Given the description of an element on the screen output the (x, y) to click on. 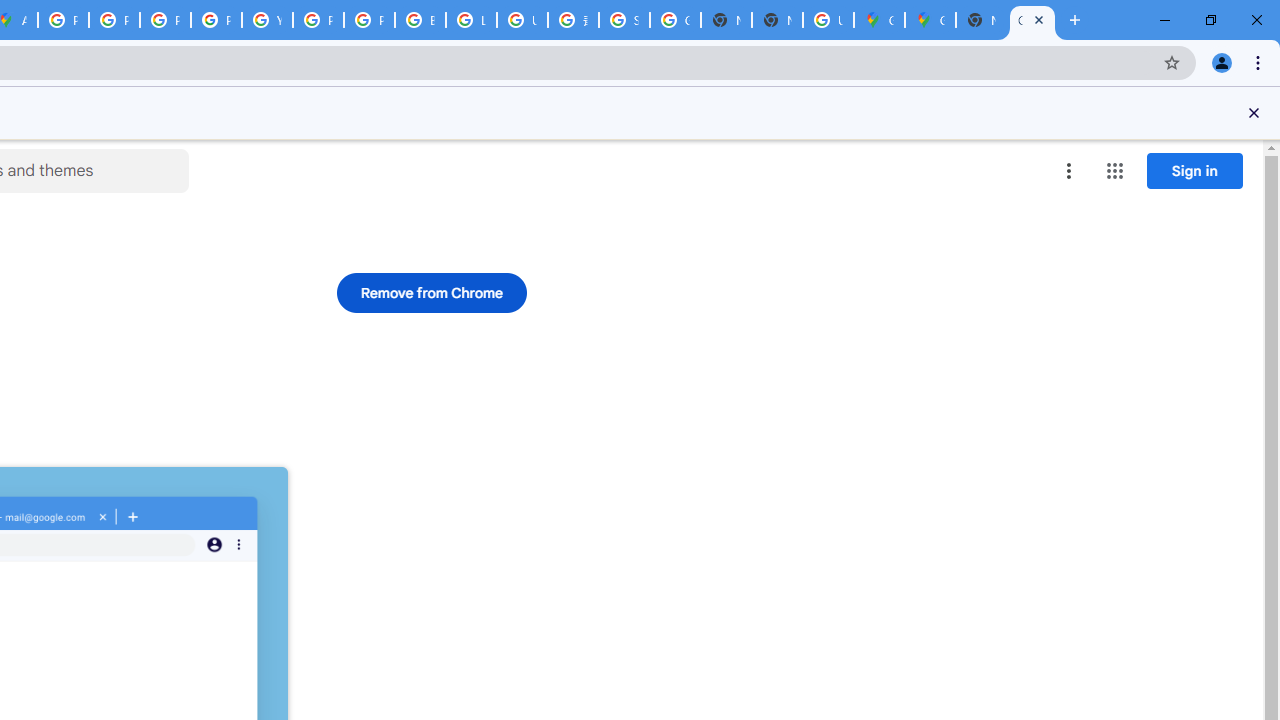
YouTube (267, 20)
New Tab (776, 20)
Google Maps (878, 20)
Classic Blue - Chrome Web Store (1032, 20)
More options menu (1069, 170)
Use Google Maps in Space - Google Maps Help (827, 20)
Policy Accountability and Transparency - Transparency Center (63, 20)
